Given the description of an element on the screen output the (x, y) to click on. 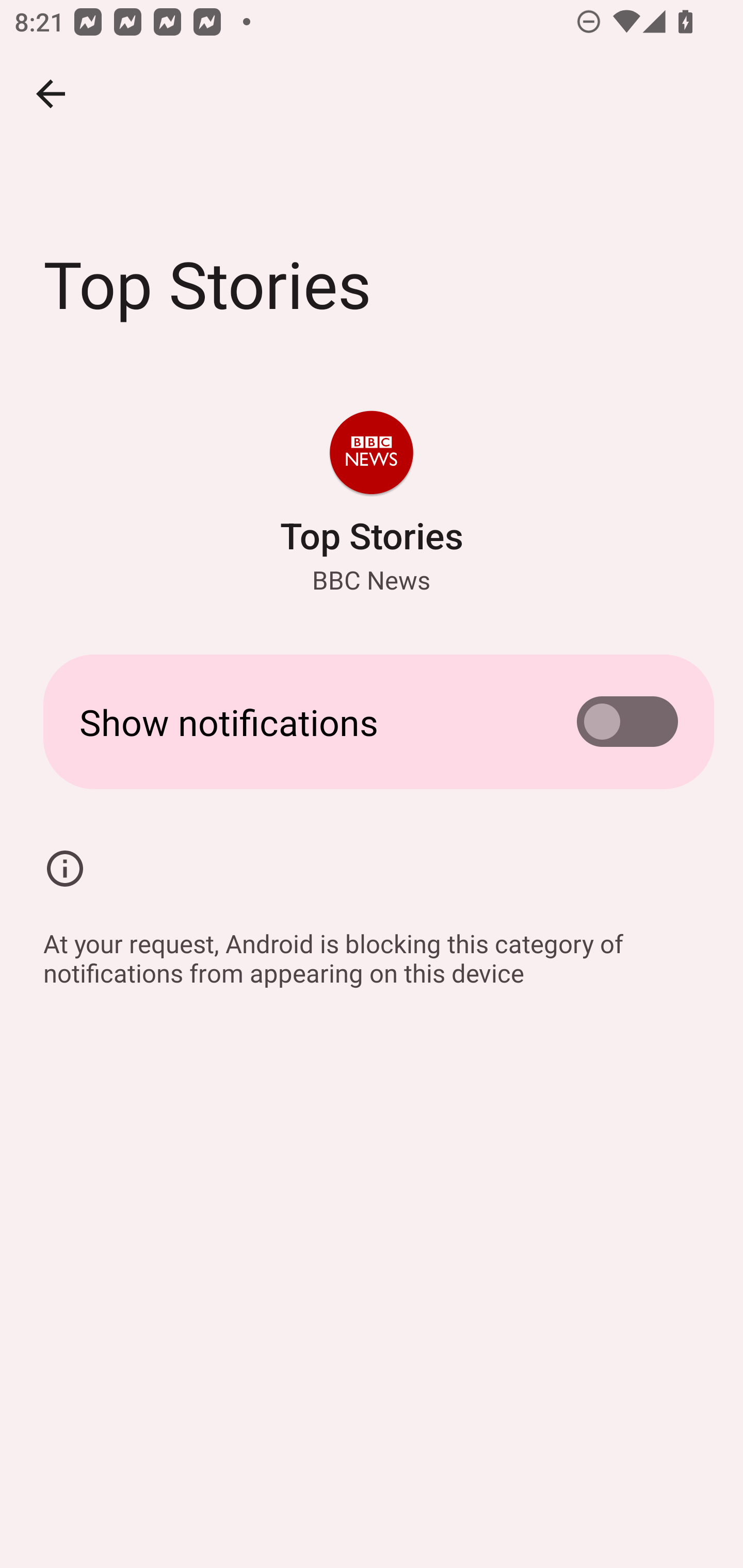
Navigate up (50, 93)
Top Stories BBC News (371, 503)
Show notifications (371, 721)
